Given the description of an element on the screen output the (x, y) to click on. 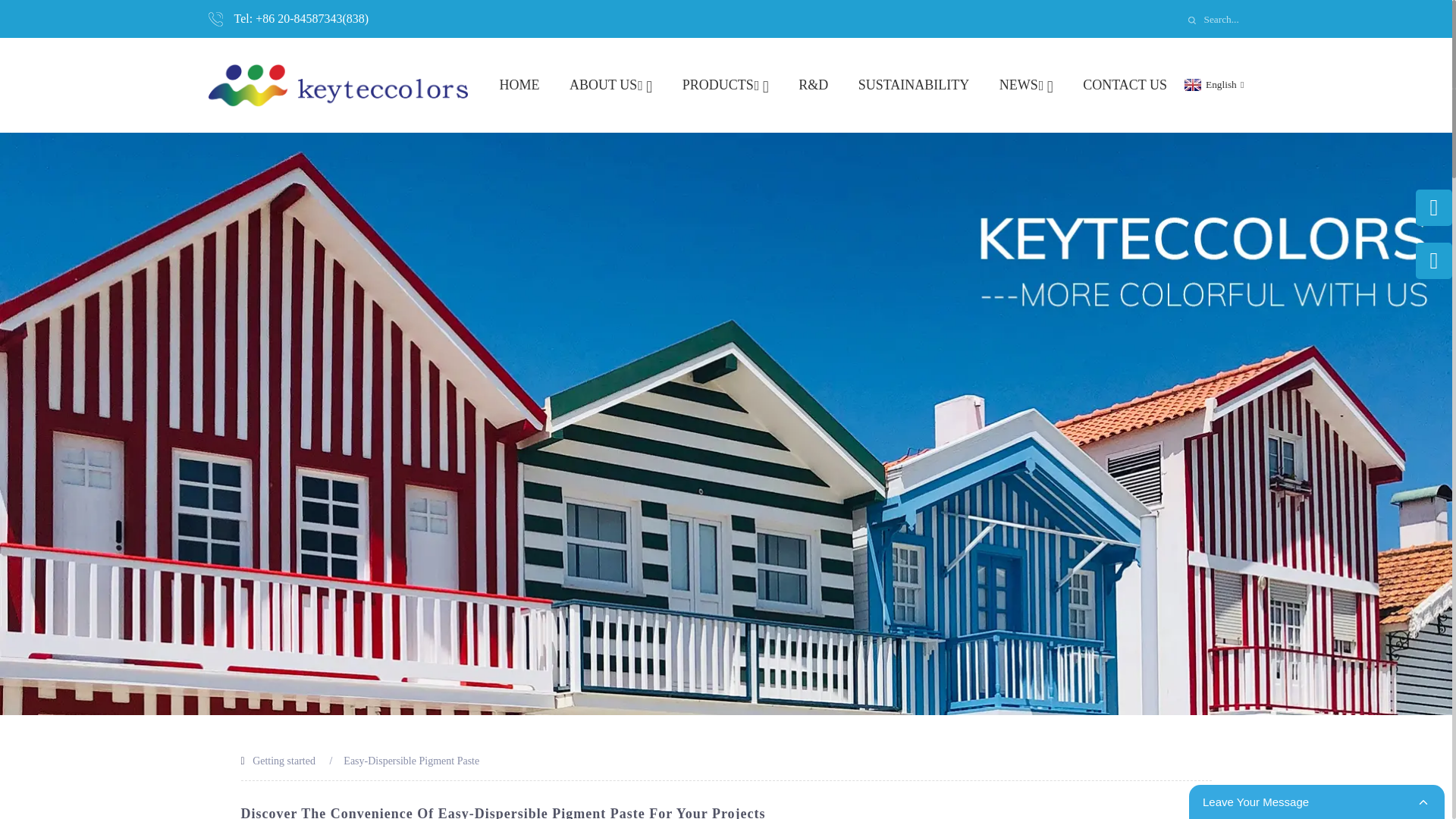
Getting started (283, 760)
English (1211, 84)
NEWS (1025, 84)
PRODUCTS (725, 84)
ABOUT US (610, 84)
HOME (518, 84)
CONTACT US (1125, 84)
SUSTAINABILITY (914, 84)
Easy-Dispersible Pigment Paste (411, 760)
